Given the description of an element on the screen output the (x, y) to click on. 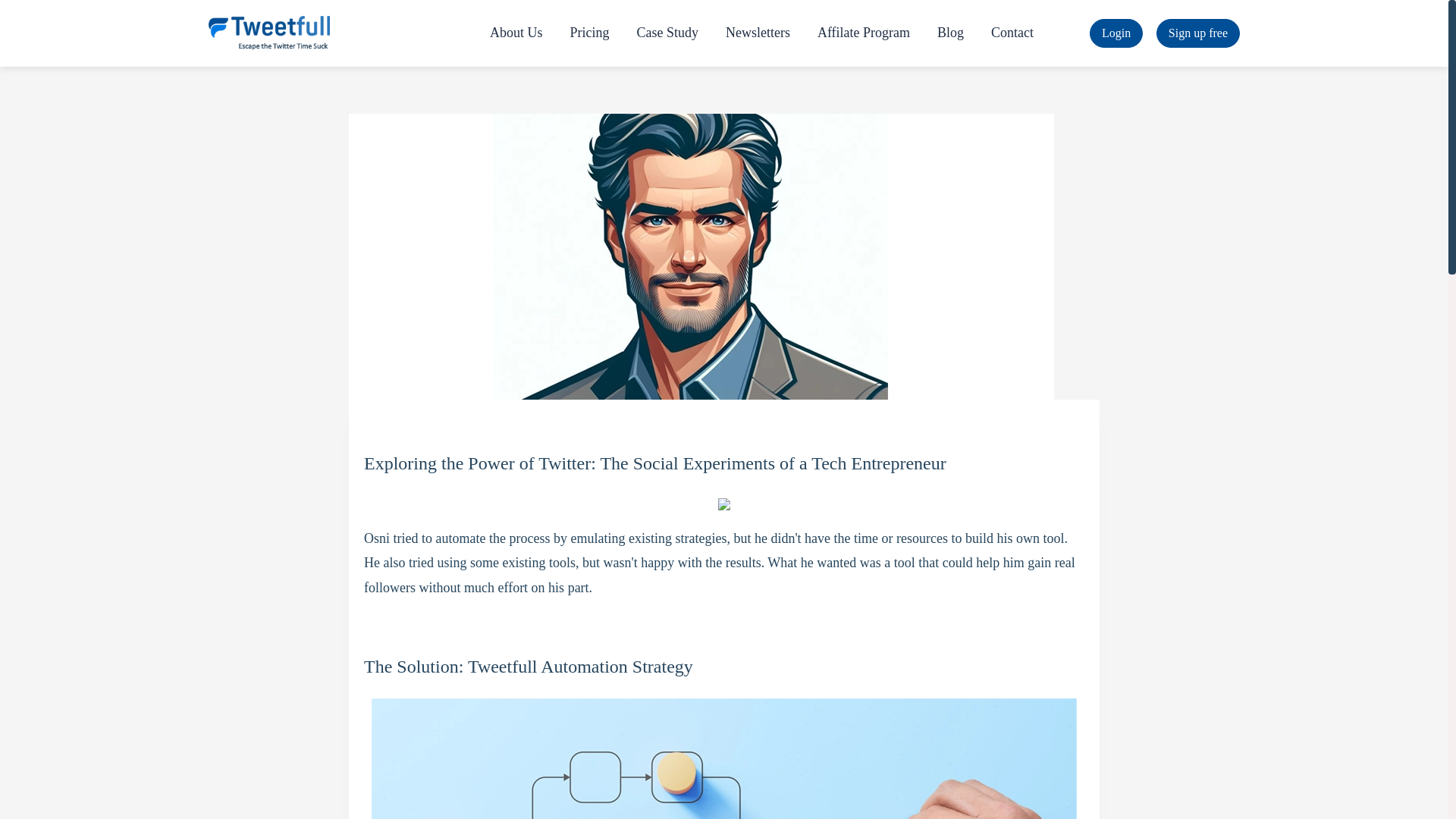
Blog (949, 32)
Pricing (589, 32)
About Us (516, 32)
Case Study (667, 32)
Sign up free (1198, 32)
Login (1115, 32)
Contact (1011, 32)
Newsletters (757, 32)
Affilate Program (863, 32)
